Given the description of an element on the screen output the (x, y) to click on. 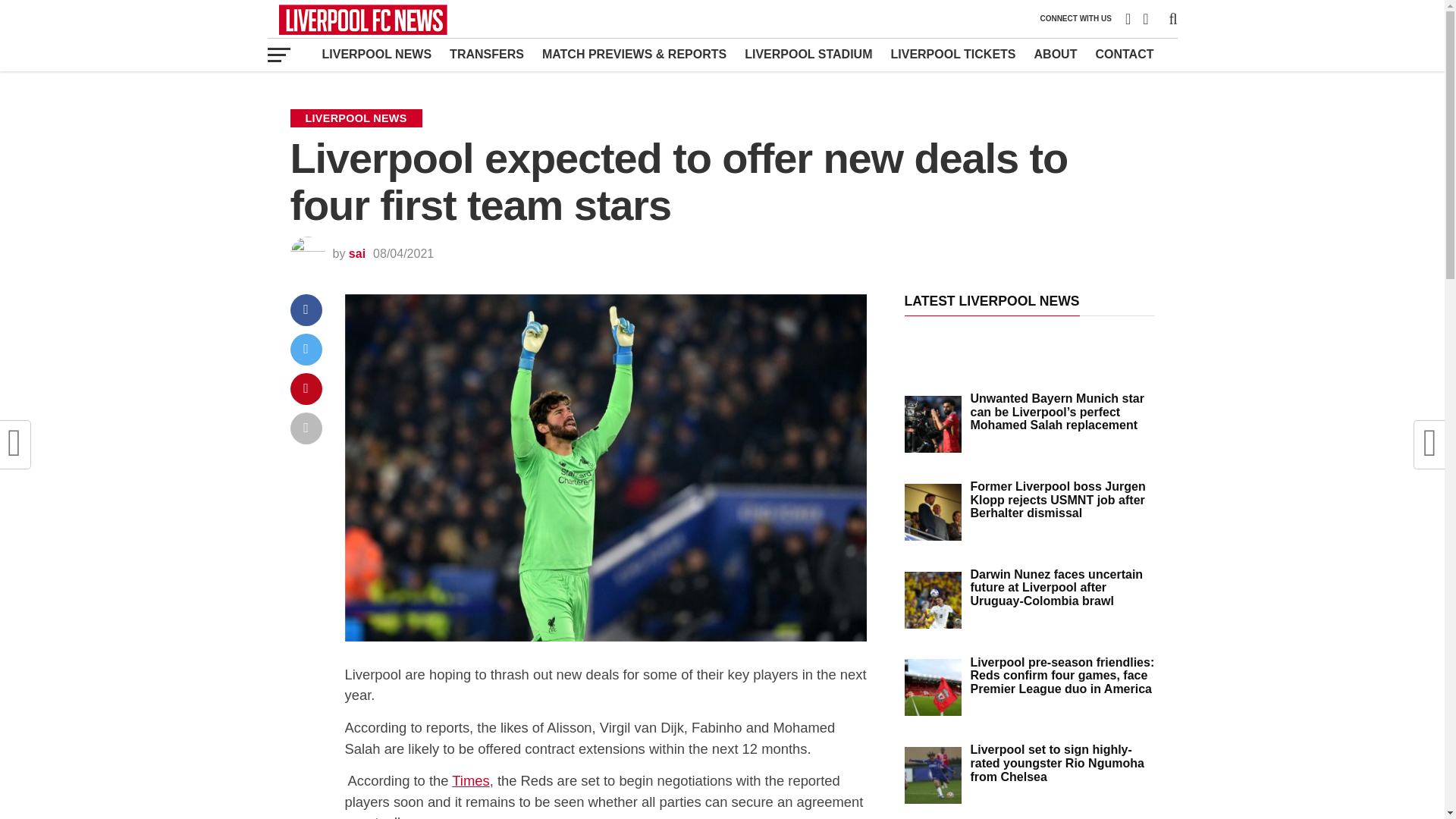
CONTACT (1123, 54)
LIVERPOOL STADIUM (807, 54)
sai (357, 253)
Times (470, 780)
ABOUT (1055, 54)
Posts by sai (357, 253)
LIVERPOOL TICKETS (952, 54)
LIVERPOOL NEWS (377, 54)
TRANSFERS (486, 54)
